Given the description of an element on the screen output the (x, y) to click on. 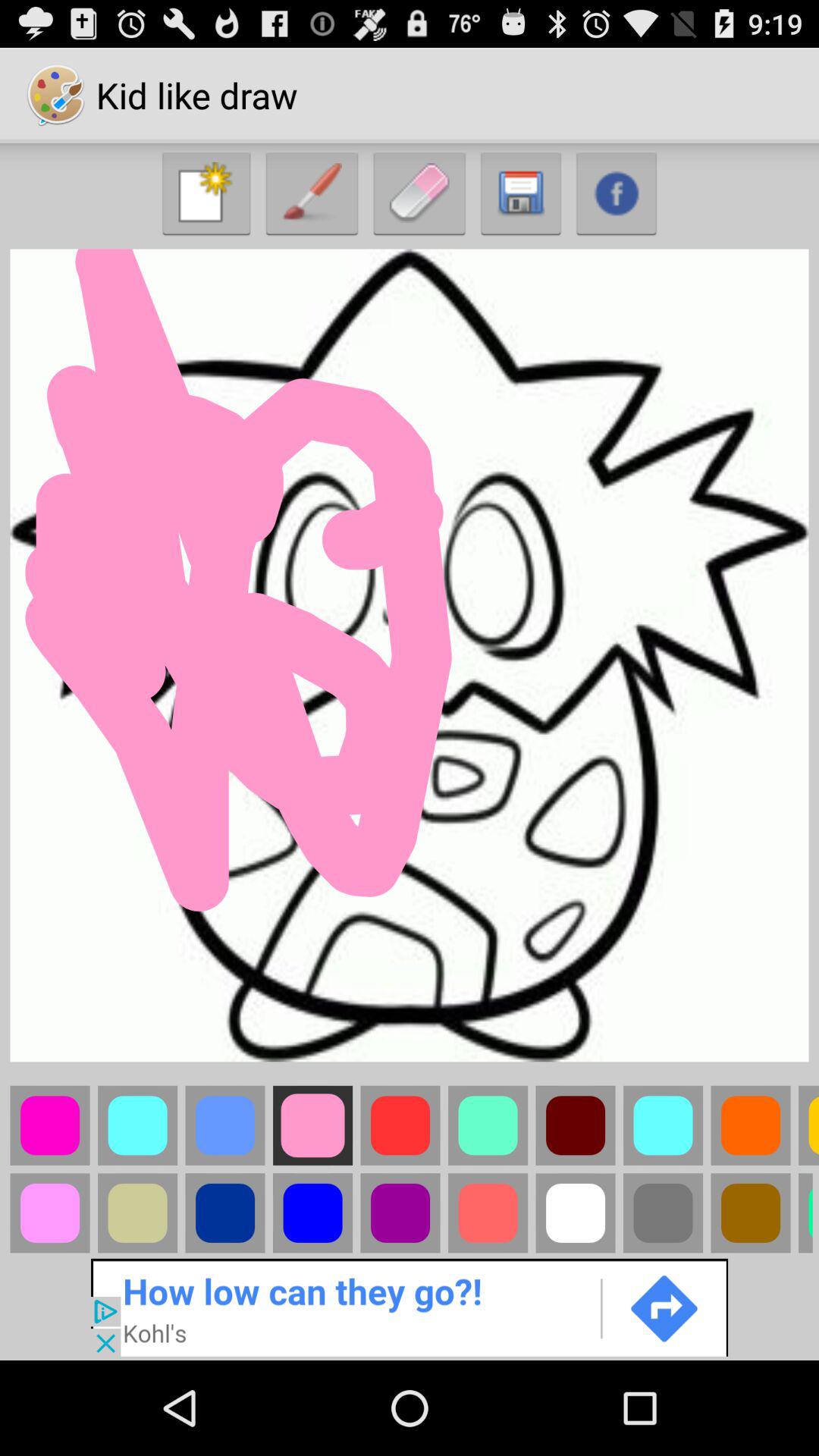
click advertisement (409, 1306)
